Given the description of an element on the screen output the (x, y) to click on. 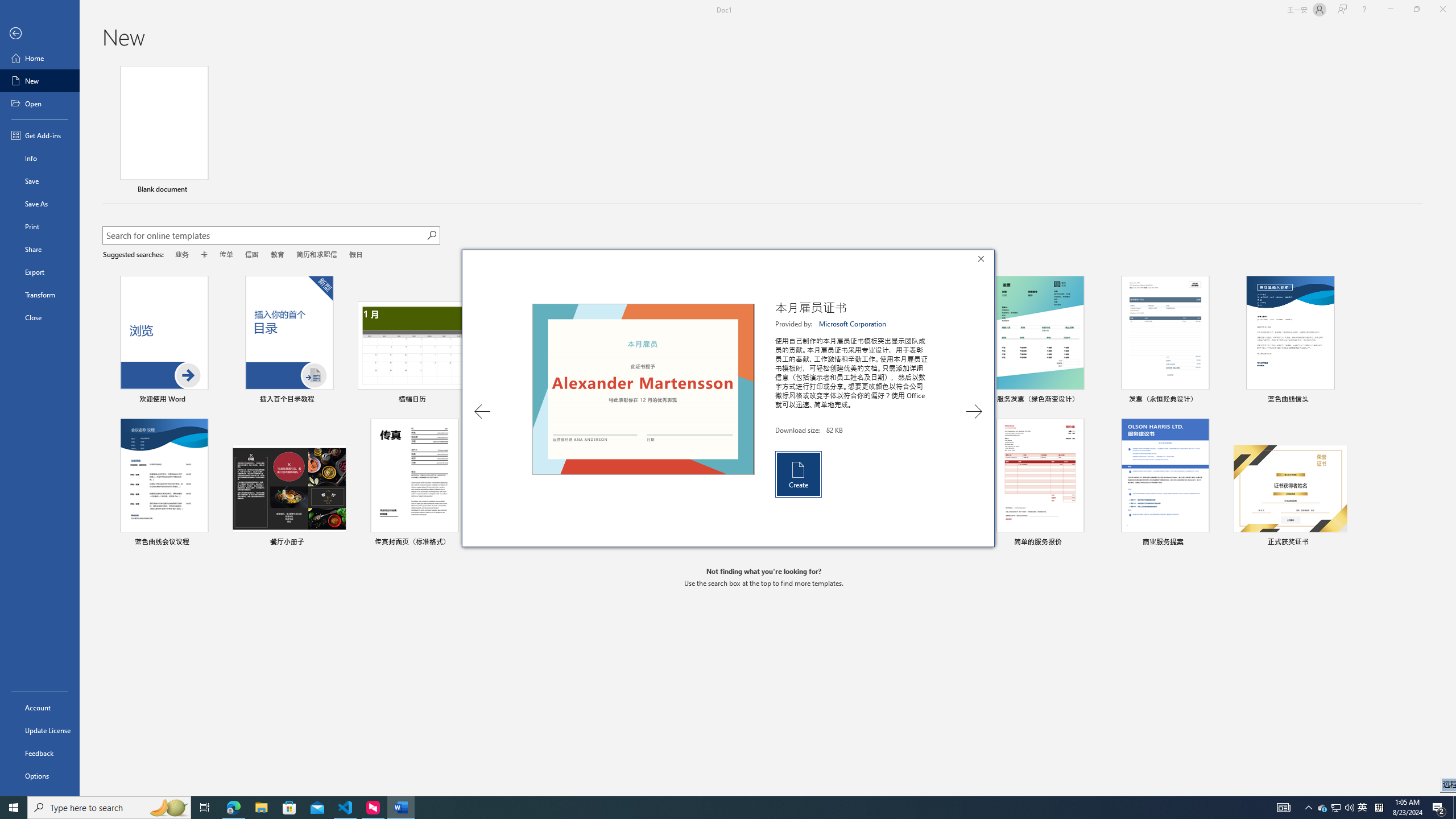
Search for online templates (264, 237)
Save As (40, 203)
AutomationID: 4105 (1283, 807)
Print (40, 225)
Visual Studio Code - 1 running window (345, 807)
Next Template (974, 411)
Previous Template (481, 411)
Feedback (40, 753)
Tray Input Indicator - Chinese (Simplified, China) (1378, 807)
